Given the description of an element on the screen output the (x, y) to click on. 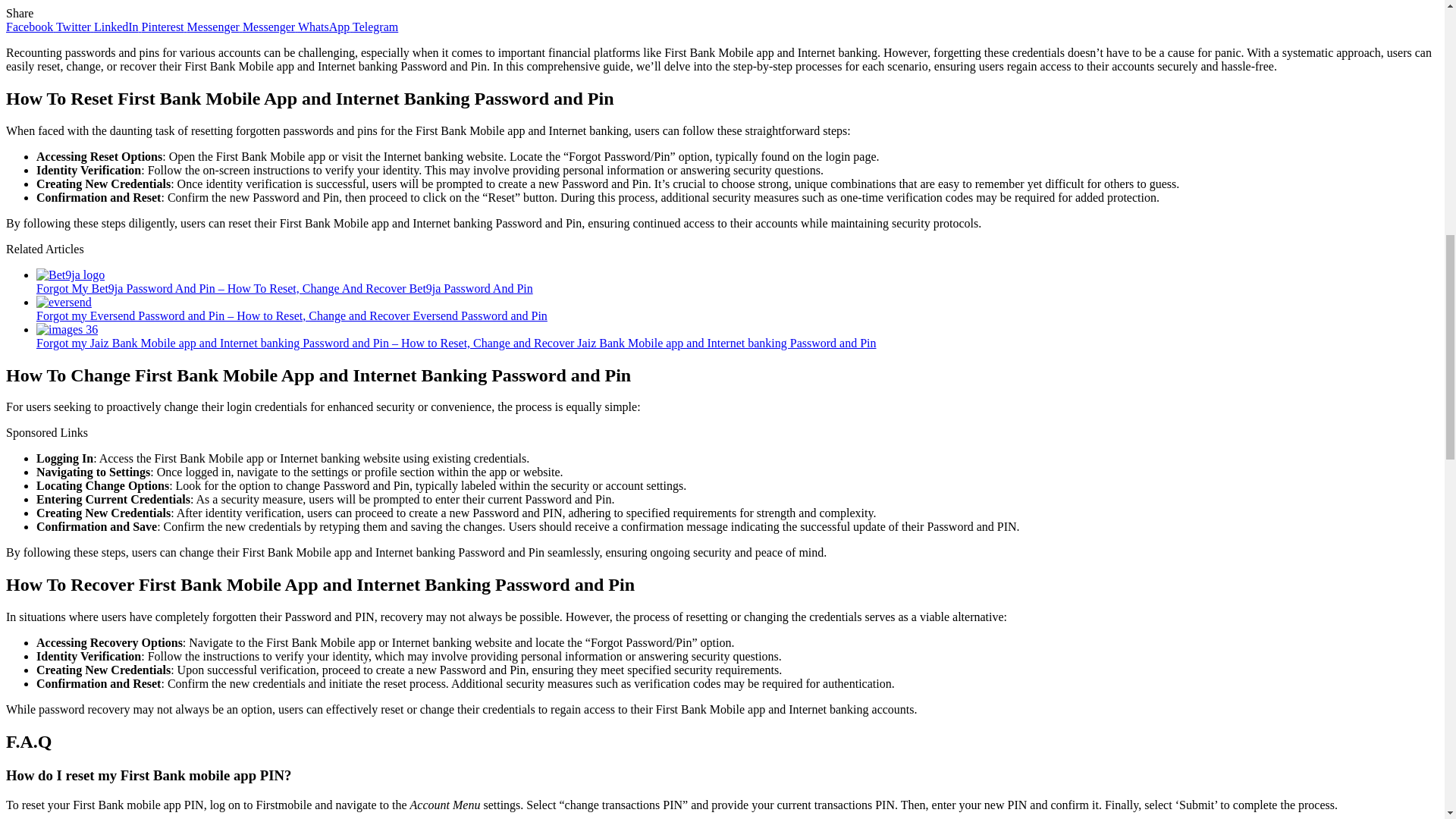
Messenger (215, 26)
Twitter (75, 26)
LinkedIn (117, 26)
Messenger (270, 26)
Facebook (30, 26)
Telegram (374, 26)
Twitter (75, 26)
Pinterest (164, 26)
Messenger (270, 26)
Telegram (374, 26)
WhatsApp (325, 26)
LinkedIn (117, 26)
Messenger (215, 26)
WhatsApp (325, 26)
